Given the description of an element on the screen output the (x, y) to click on. 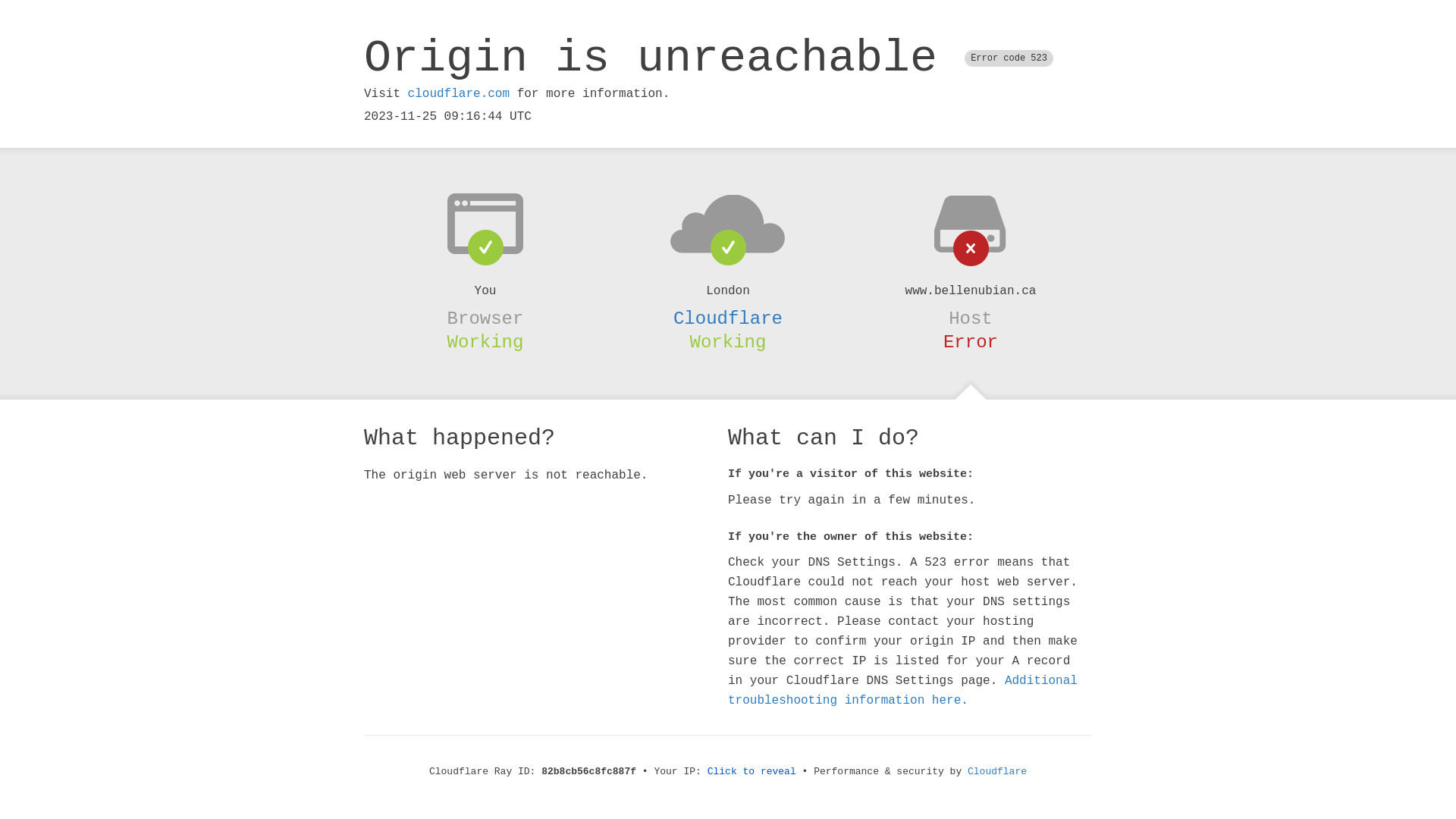
cloudflare.com Element type: text (458, 93)
Cloudflare Element type: text (727, 318)
Cloudflare Element type: text (996, 771)
Click to reveal Element type: text (751, 771)
Additional troubleshooting information here. Element type: text (902, 690)
